Given the description of an element on the screen output the (x, y) to click on. 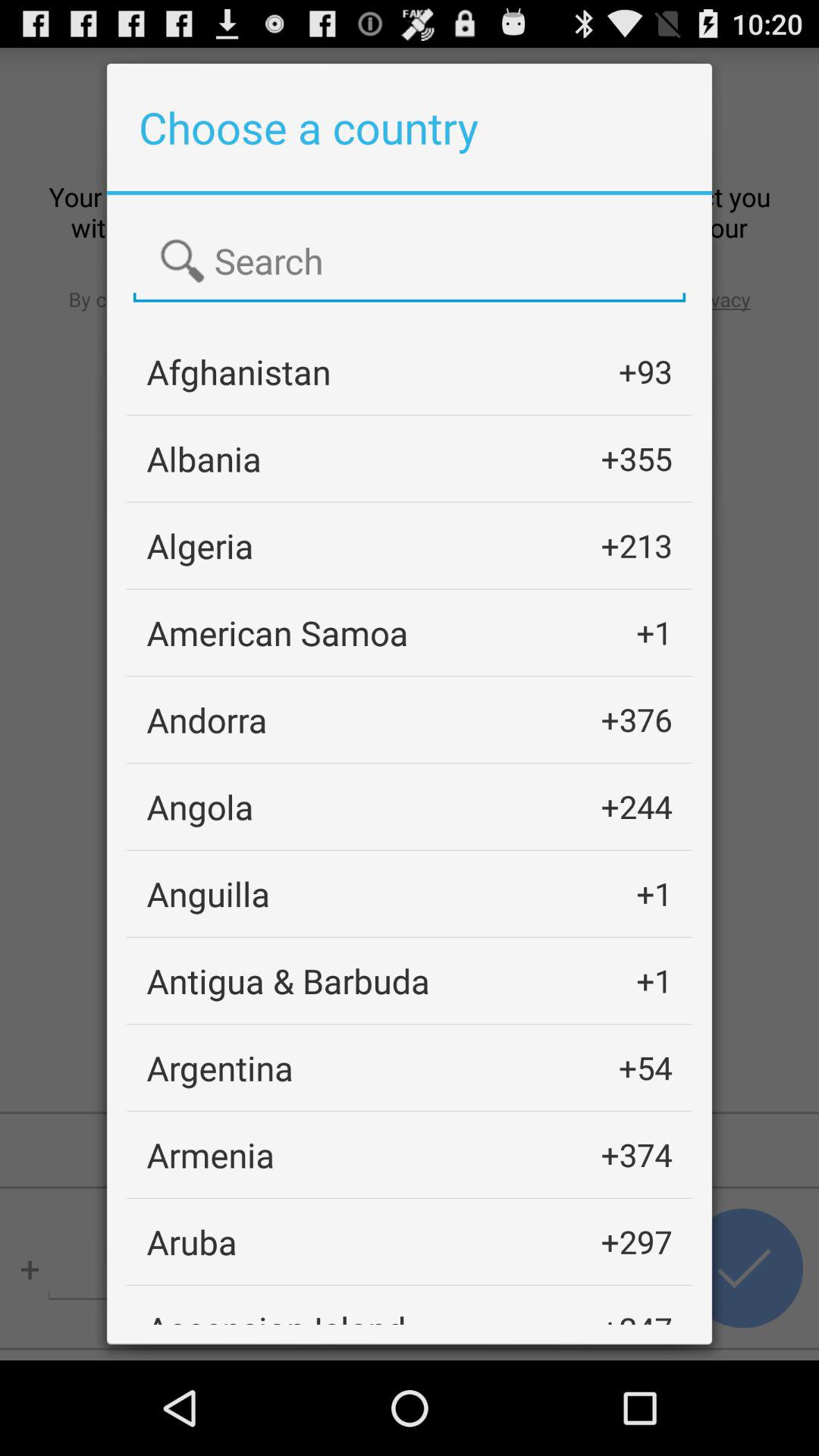
select app below antigua & barbuda app (219, 1067)
